Given the description of an element on the screen output the (x, y) to click on. 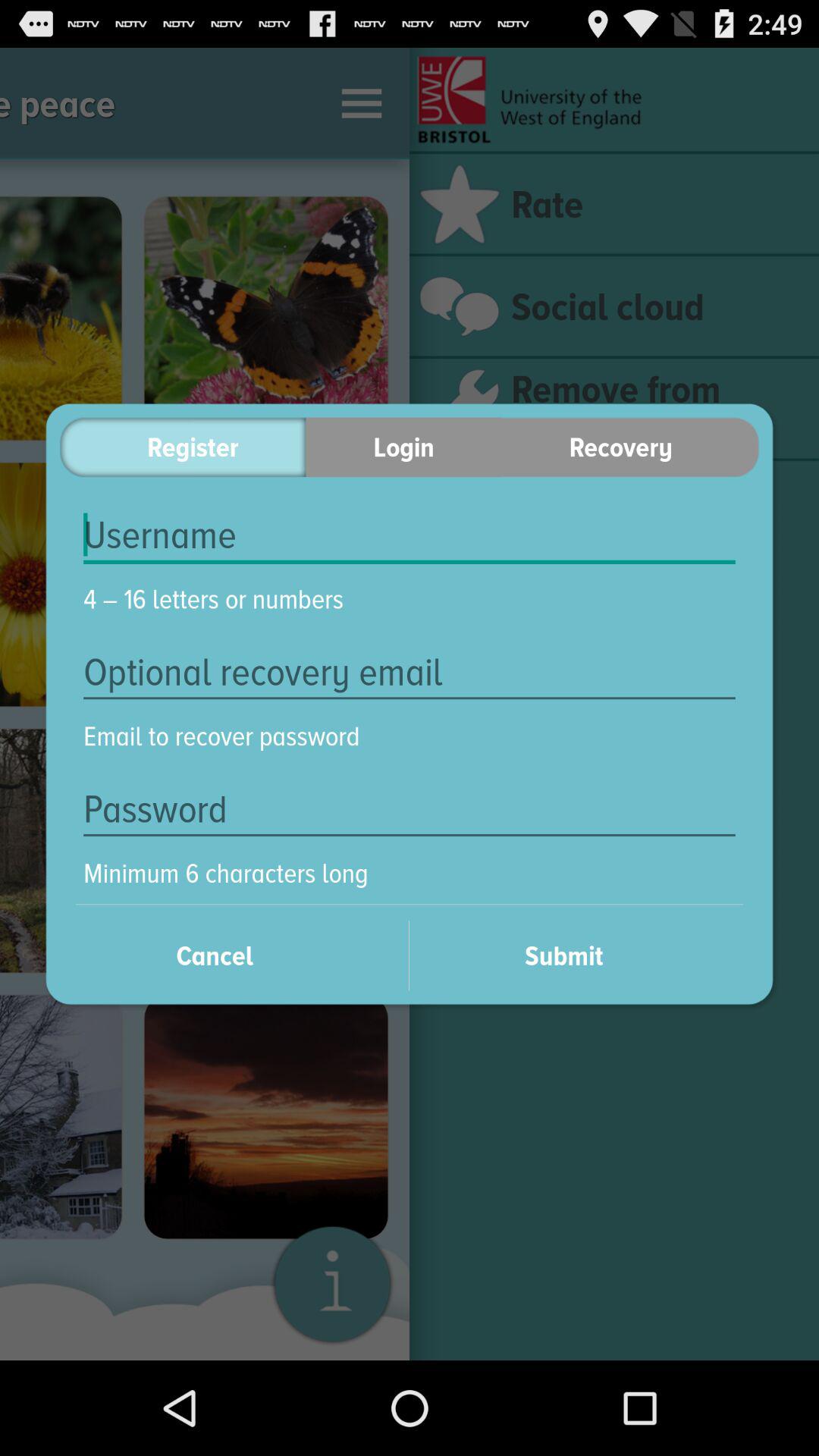
scroll to the recovery (630, 447)
